Given the description of an element on the screen output the (x, y) to click on. 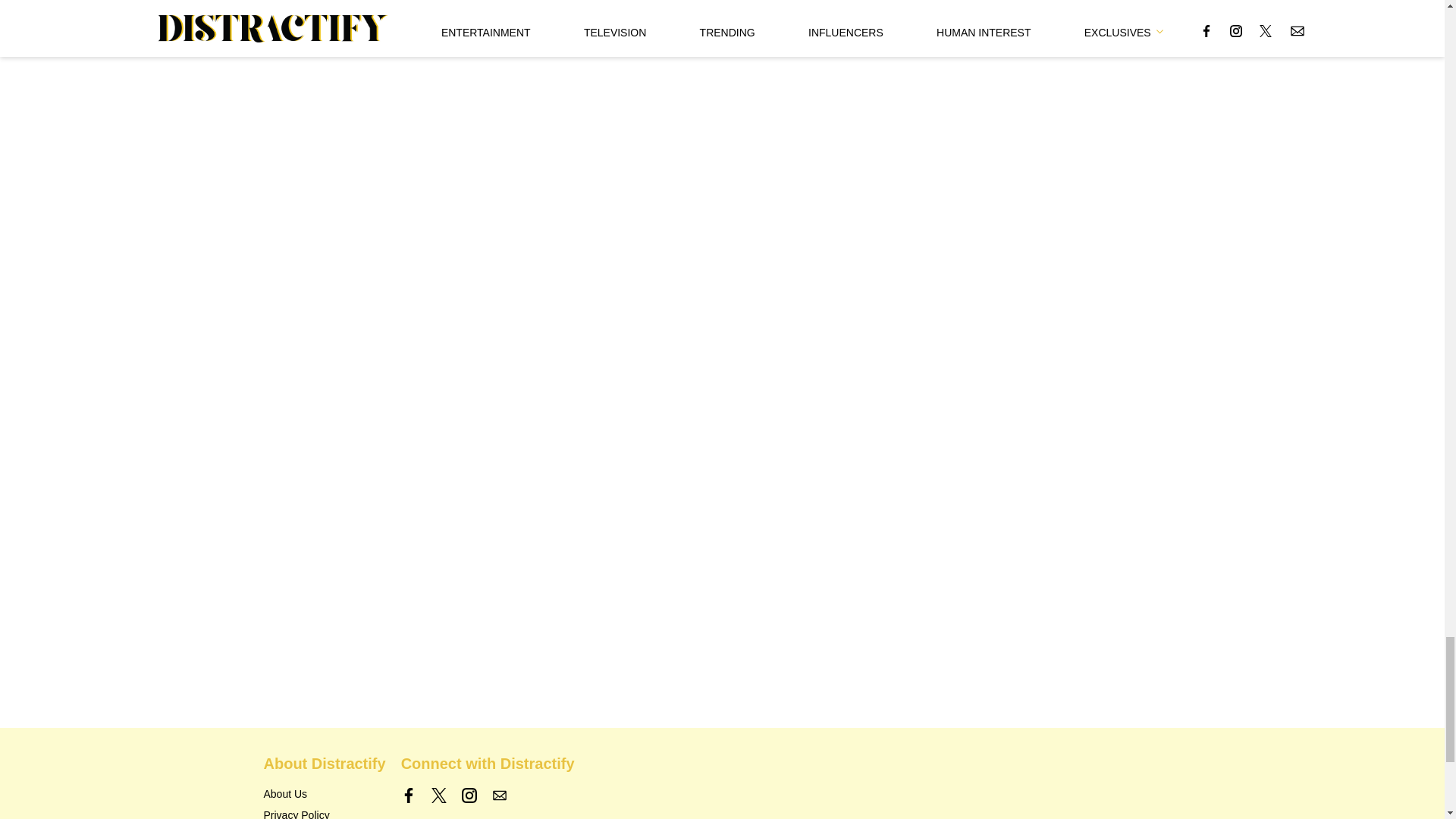
About Us (285, 793)
Privacy Policy (296, 814)
Link to Instagram (469, 795)
Privacy Policy (296, 814)
About Us (285, 793)
Link to X (438, 795)
Link to Facebook (408, 795)
Contact us by Email (499, 795)
